Given the description of an element on the screen output the (x, y) to click on. 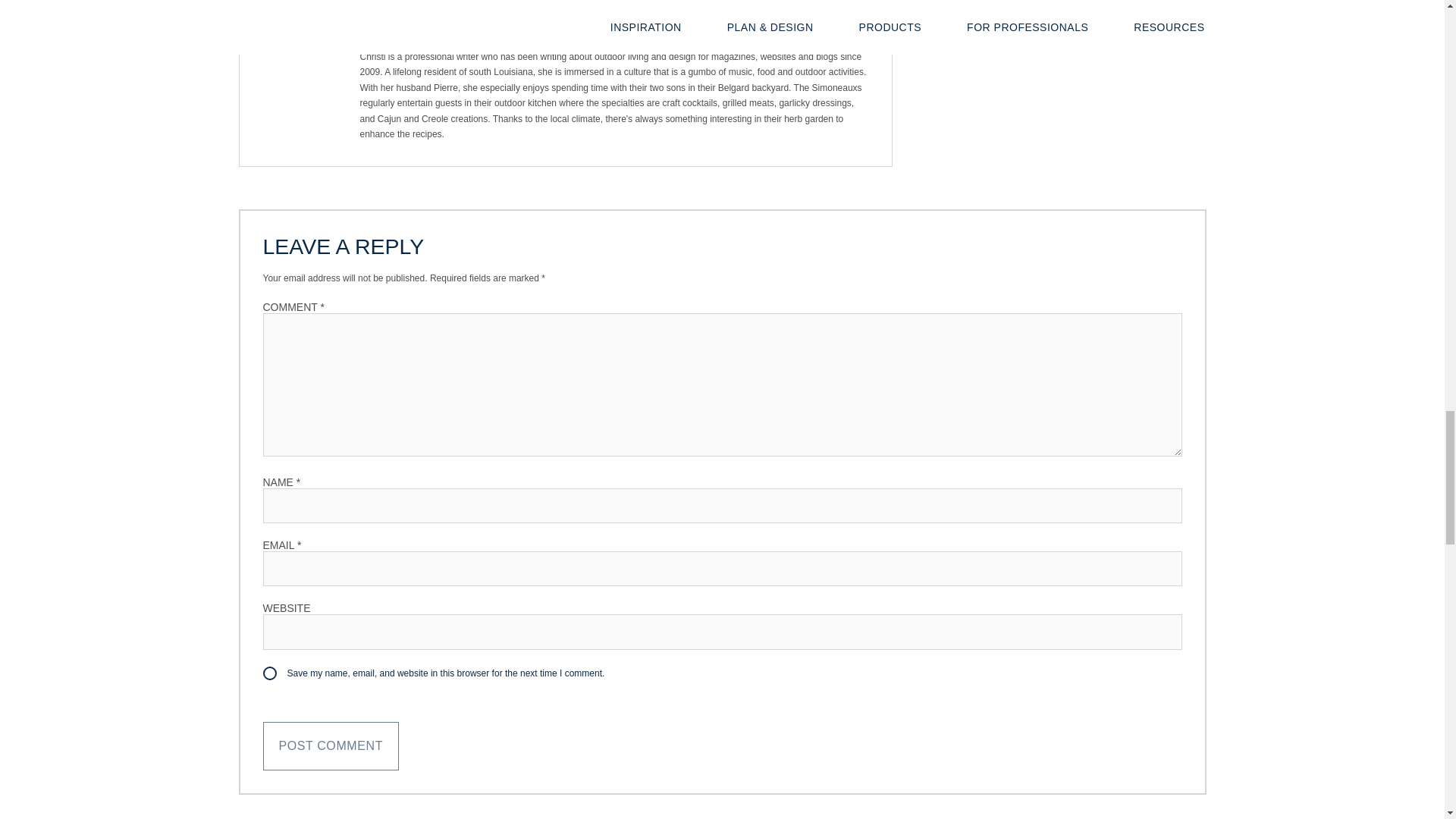
Post Comment (330, 745)
